Given the description of an element on the screen output the (x, y) to click on. 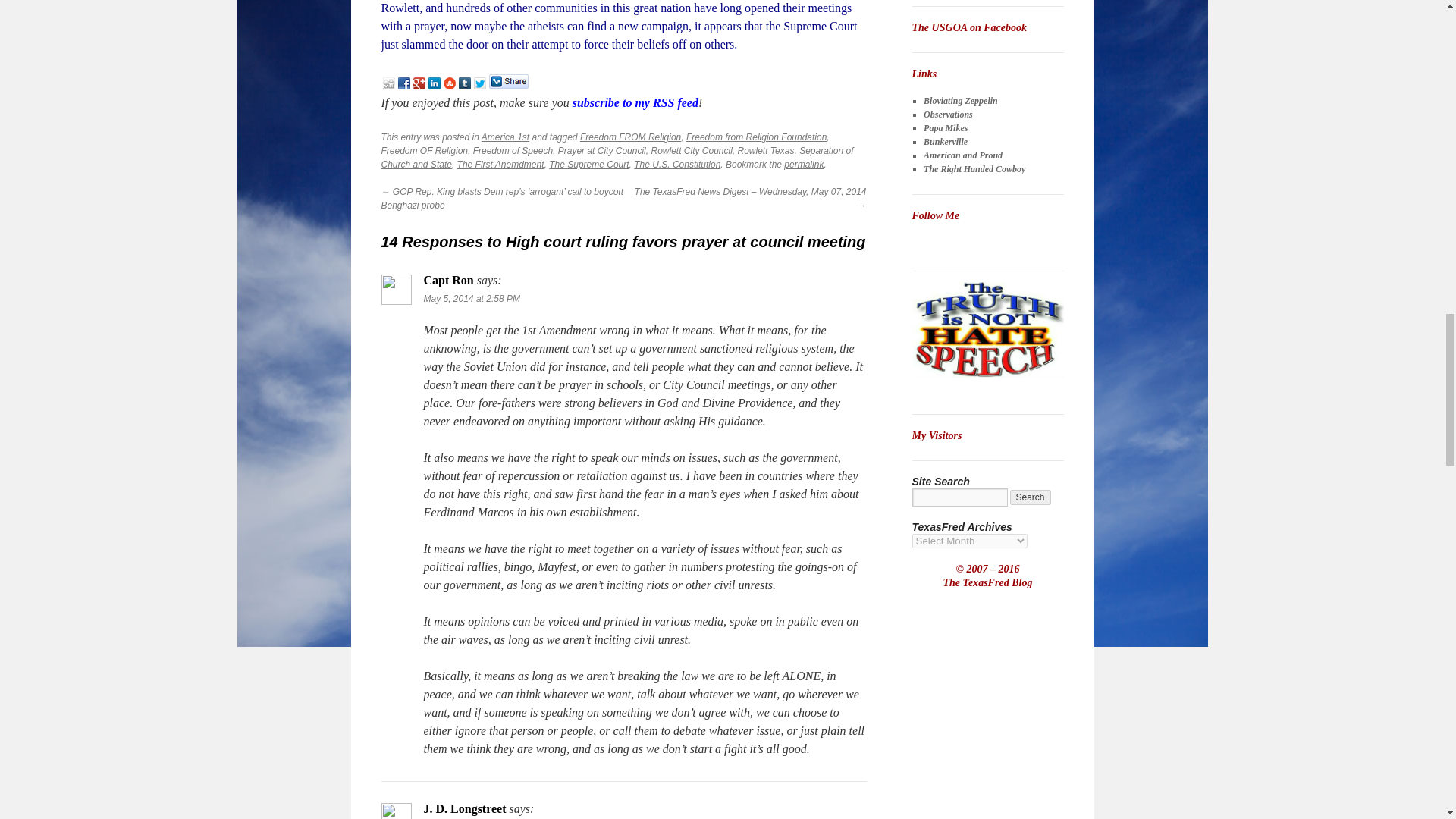
Freedom from Religion Foundation (756, 136)
Freedom FROM Religion (630, 136)
Prayer at City Council (601, 150)
May 5, 2014 at 2:58 PM (471, 298)
permalink (804, 163)
Rowlett City Council (691, 150)
Freedom of Speech (513, 150)
Digg This (387, 82)
Separation of Church and State (616, 157)
Share on Facebook (403, 82)
The Supreme Court (588, 163)
Submit to StumbleUpon (448, 82)
subscribe to my RSS feed (635, 102)
Rowlett Texas (766, 150)
Share on Twitter (478, 82)
